Given the description of an element on the screen output the (x, y) to click on. 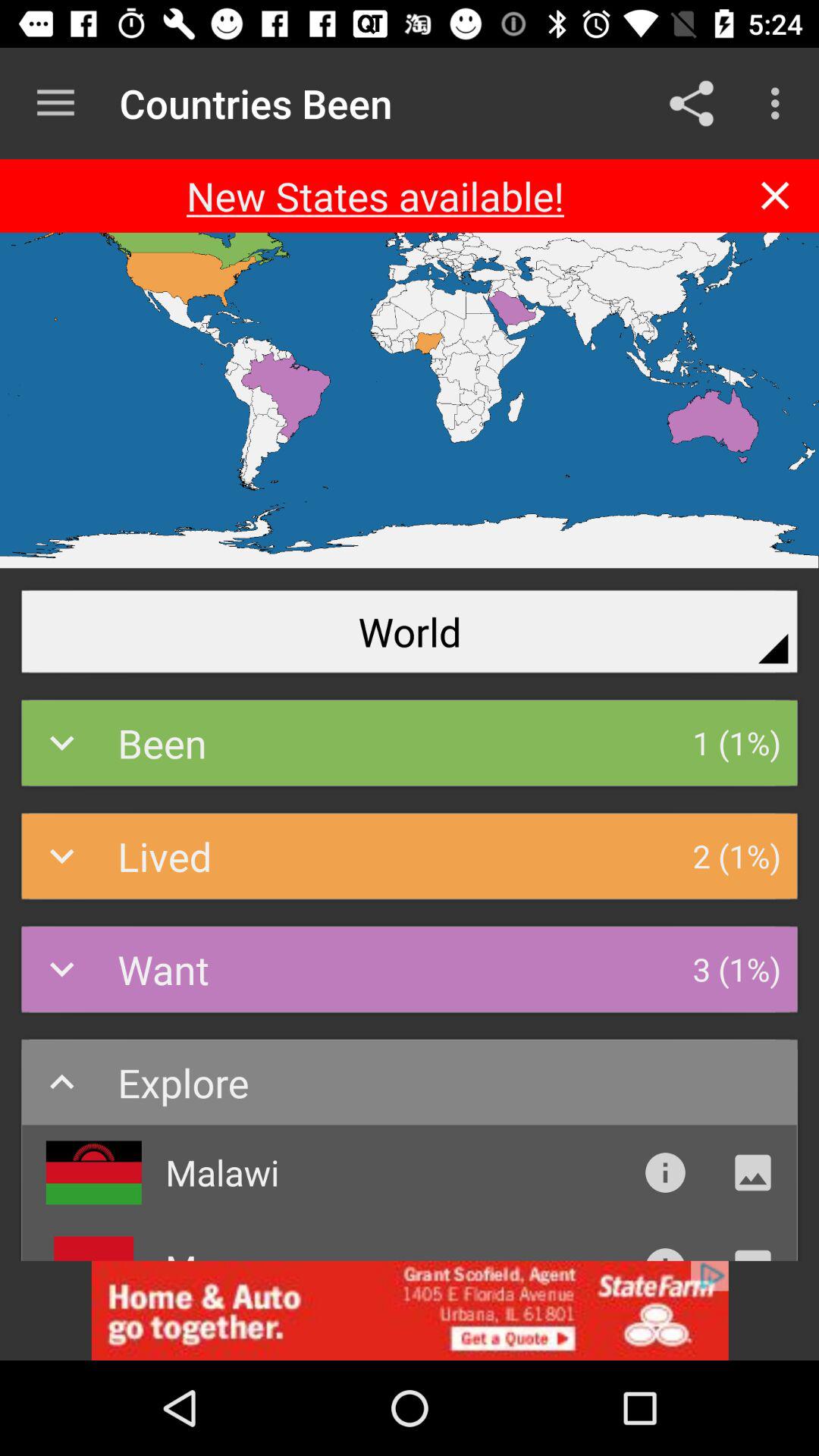
introduction (665, 1172)
